Given the description of an element on the screen output the (x, y) to click on. 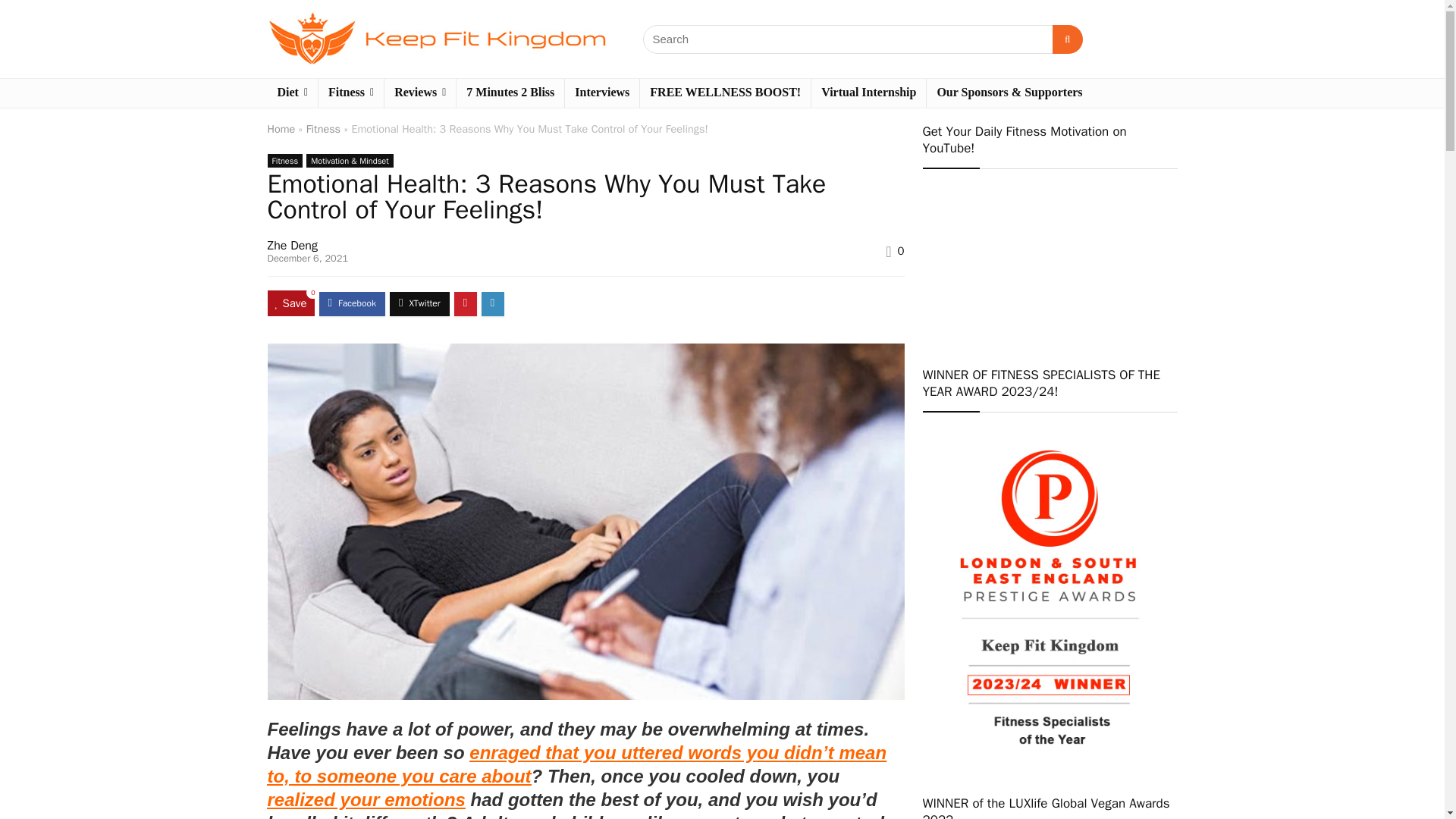
Fitness (351, 92)
realized your emotions (365, 799)
Fitness (322, 128)
7 Minutes 2 Bliss (510, 92)
Fitness (284, 160)
Home (280, 128)
Reviews (419, 92)
Diet (291, 92)
Unbelievable! Watch Her Elegant Pike Pull Ups Stun Marines (1048, 257)
Zhe Deng (291, 245)
Virtual Internship (868, 92)
FREE WELLNESS BOOST! (725, 92)
0 (901, 250)
Interviews (601, 92)
View all posts in Fitness (284, 160)
